Given the description of an element on the screen output the (x, y) to click on. 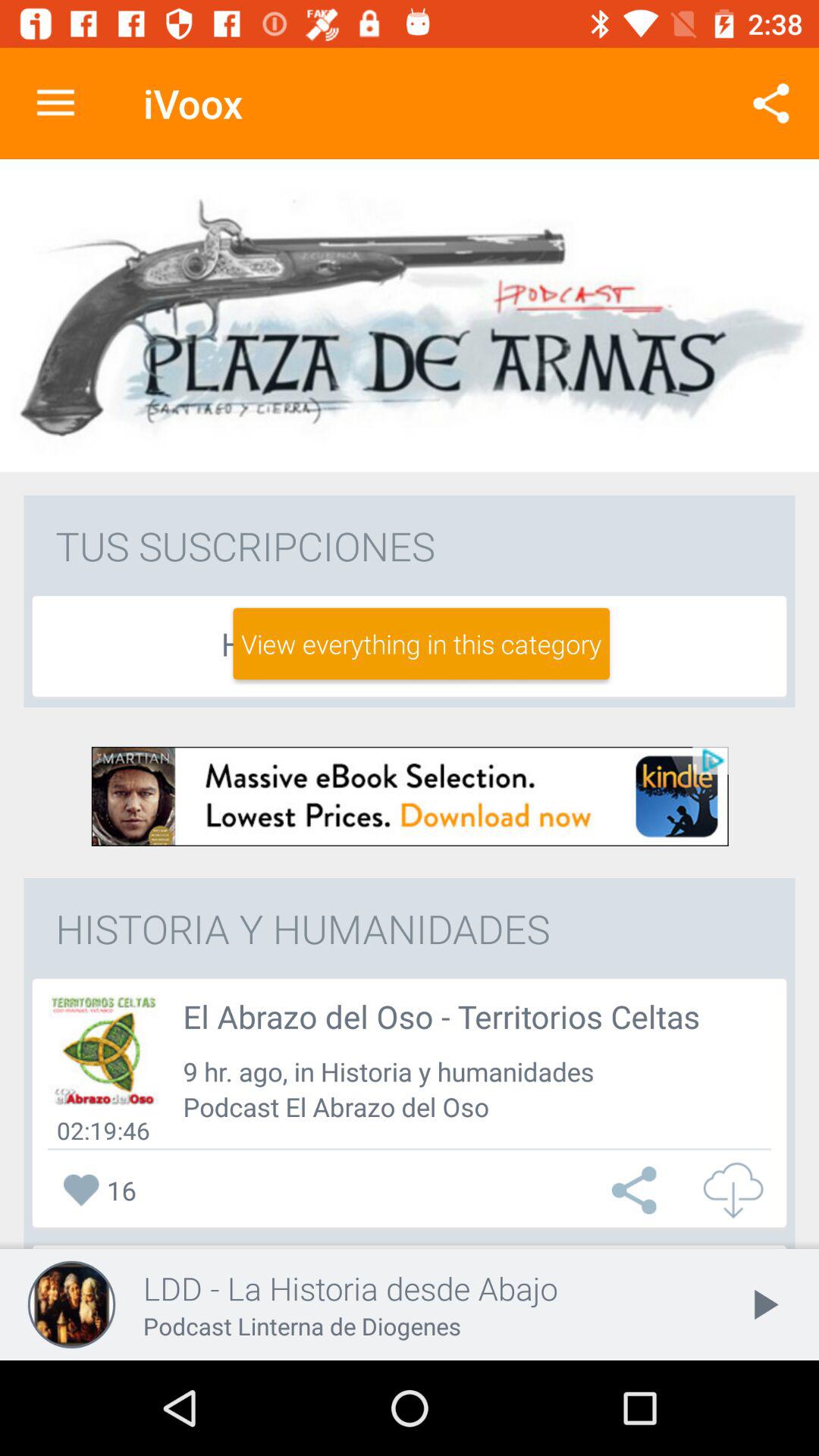
share the article (637, 1190)
